Given the description of an element on the screen output the (x, y) to click on. 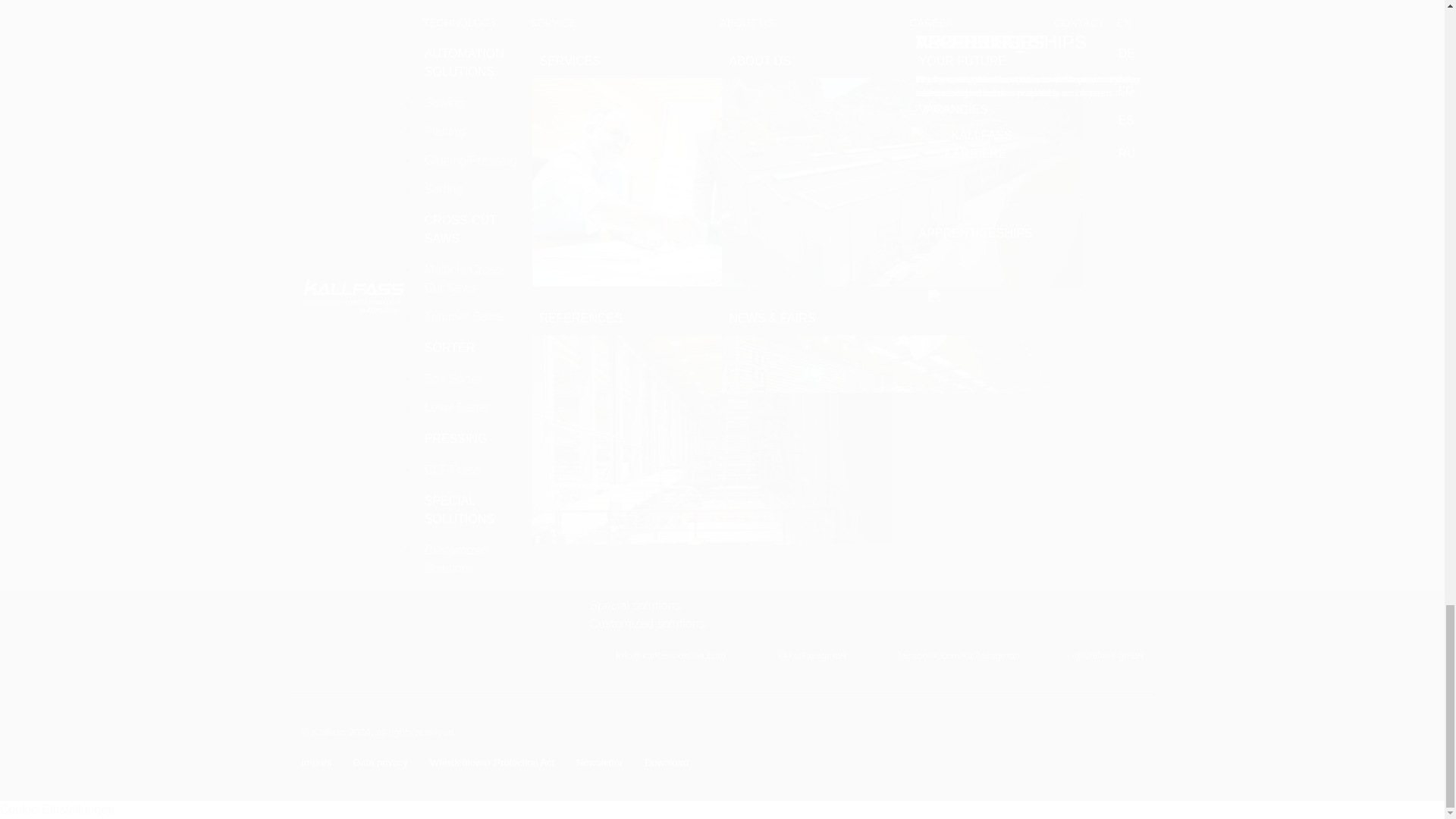
Automation solutions (645, 369)
Technology (619, 351)
Sawing (608, 387)
Logo Kallfass (373, 365)
Planing (608, 405)
